Given the description of an element on the screen output the (x, y) to click on. 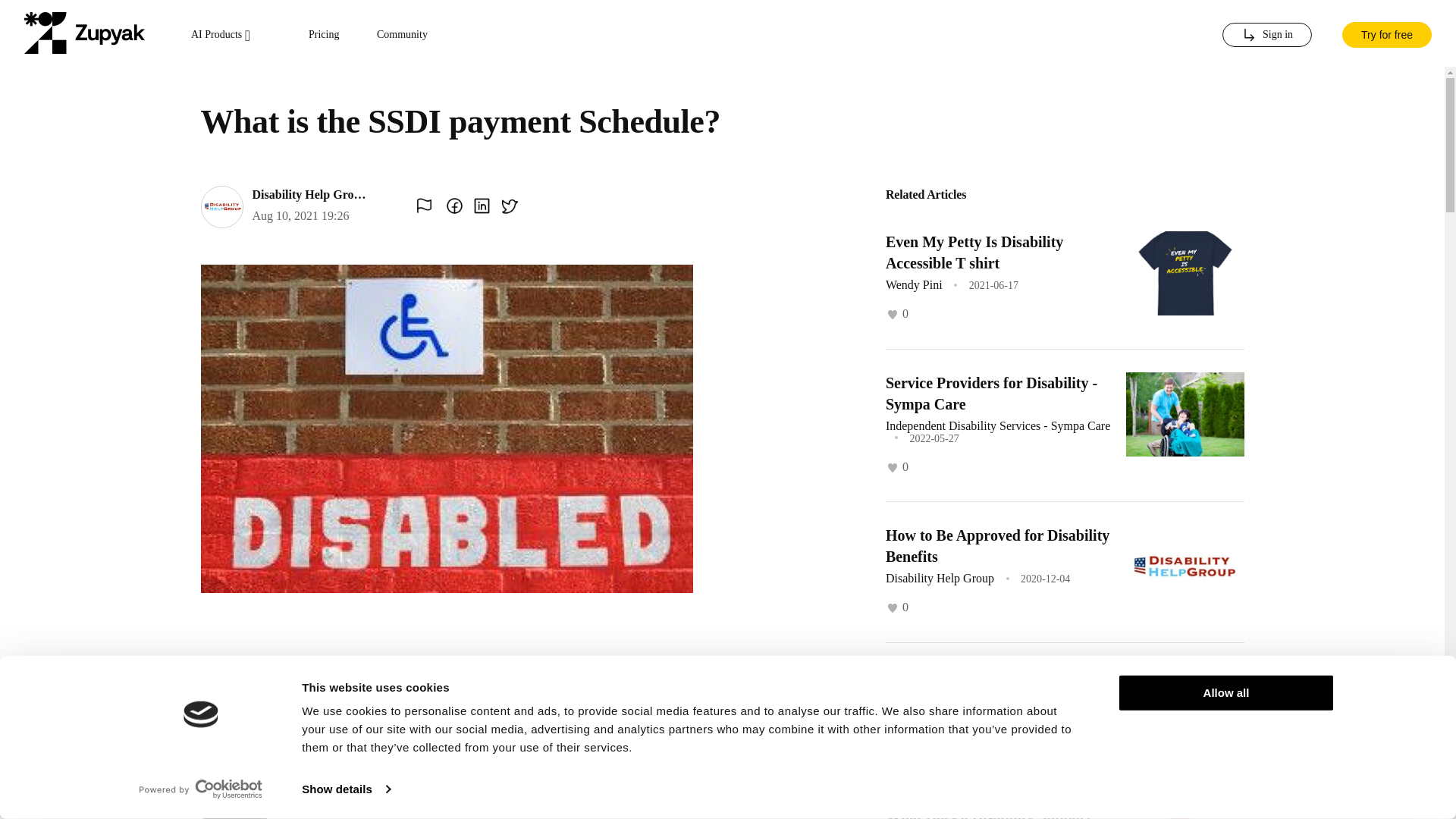
Show details (345, 789)
Queensland Disability Support Services (984, 686)
What Does a Disability Support Worker Do? (987, 813)
Service Providers for Disability - Sympa Care (991, 393)
Even My Petty Is Disability Accessible T shirt (973, 252)
How to Be Approved for Disability Benefits (997, 546)
